Given the description of an element on the screen output the (x, y) to click on. 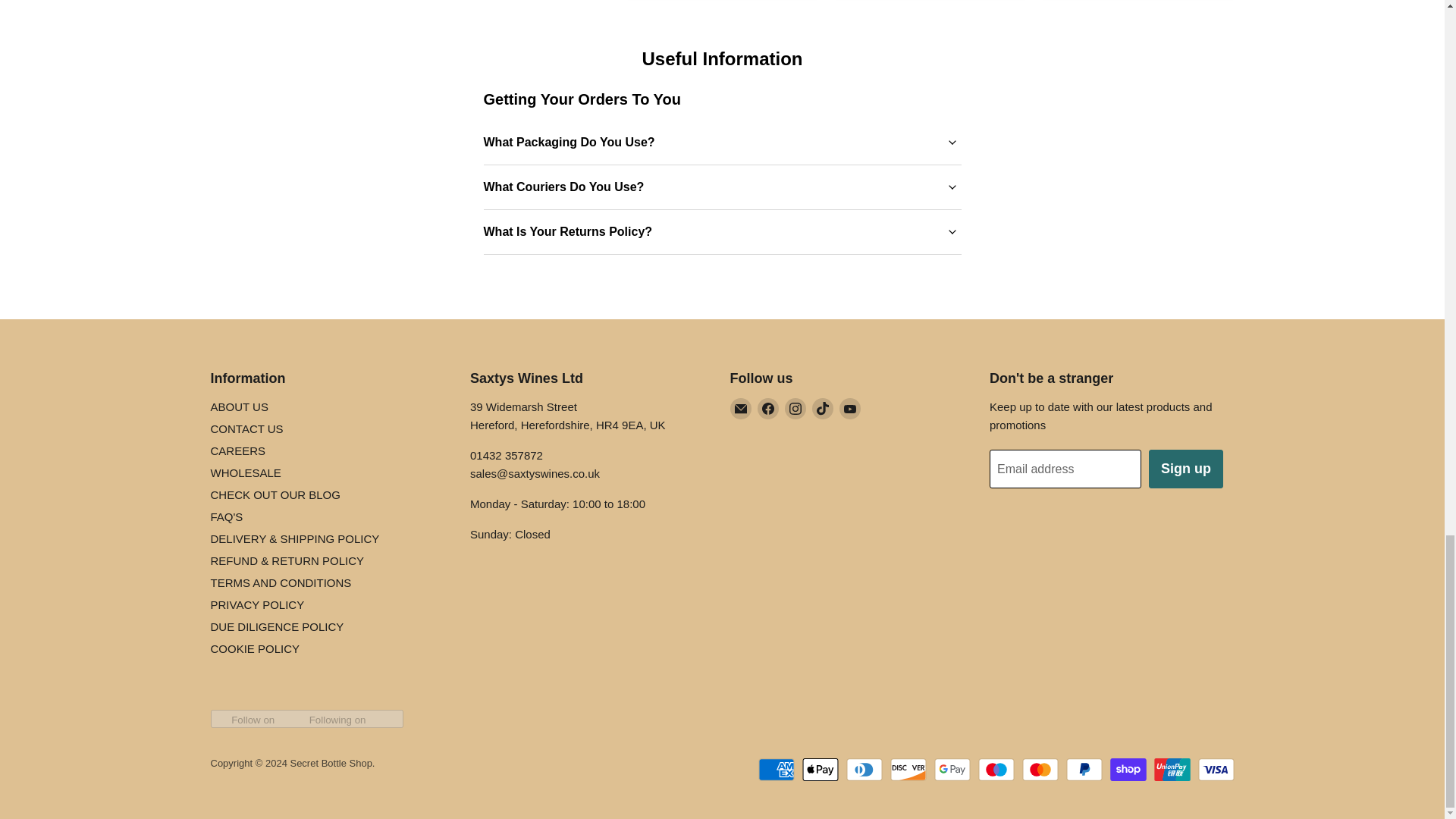
Instagram (794, 408)
Facebook (767, 408)
YouTube (849, 408)
Email (740, 408)
TikTok (821, 408)
